Given the description of an element on the screen output the (x, y) to click on. 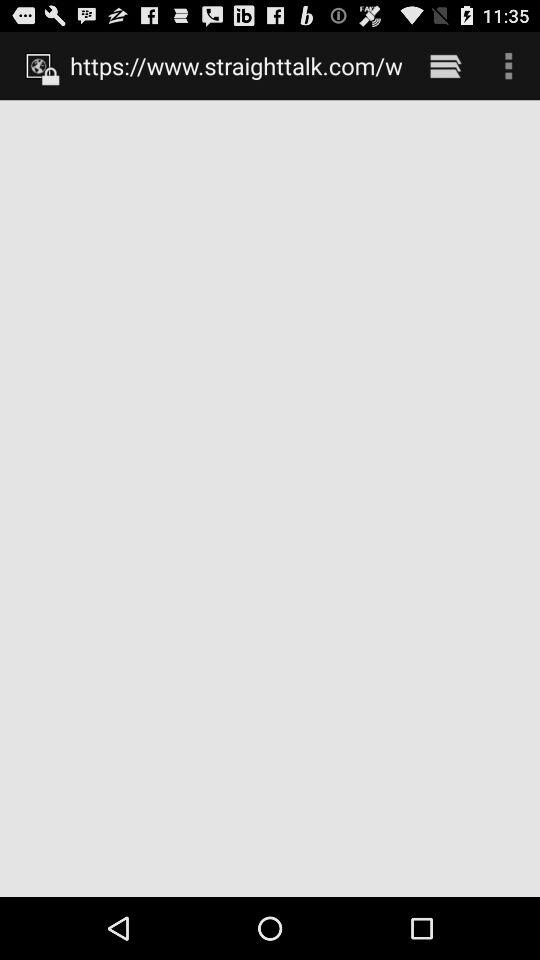
flip to the https www straighttalk (235, 65)
